Given the description of an element on the screen output the (x, y) to click on. 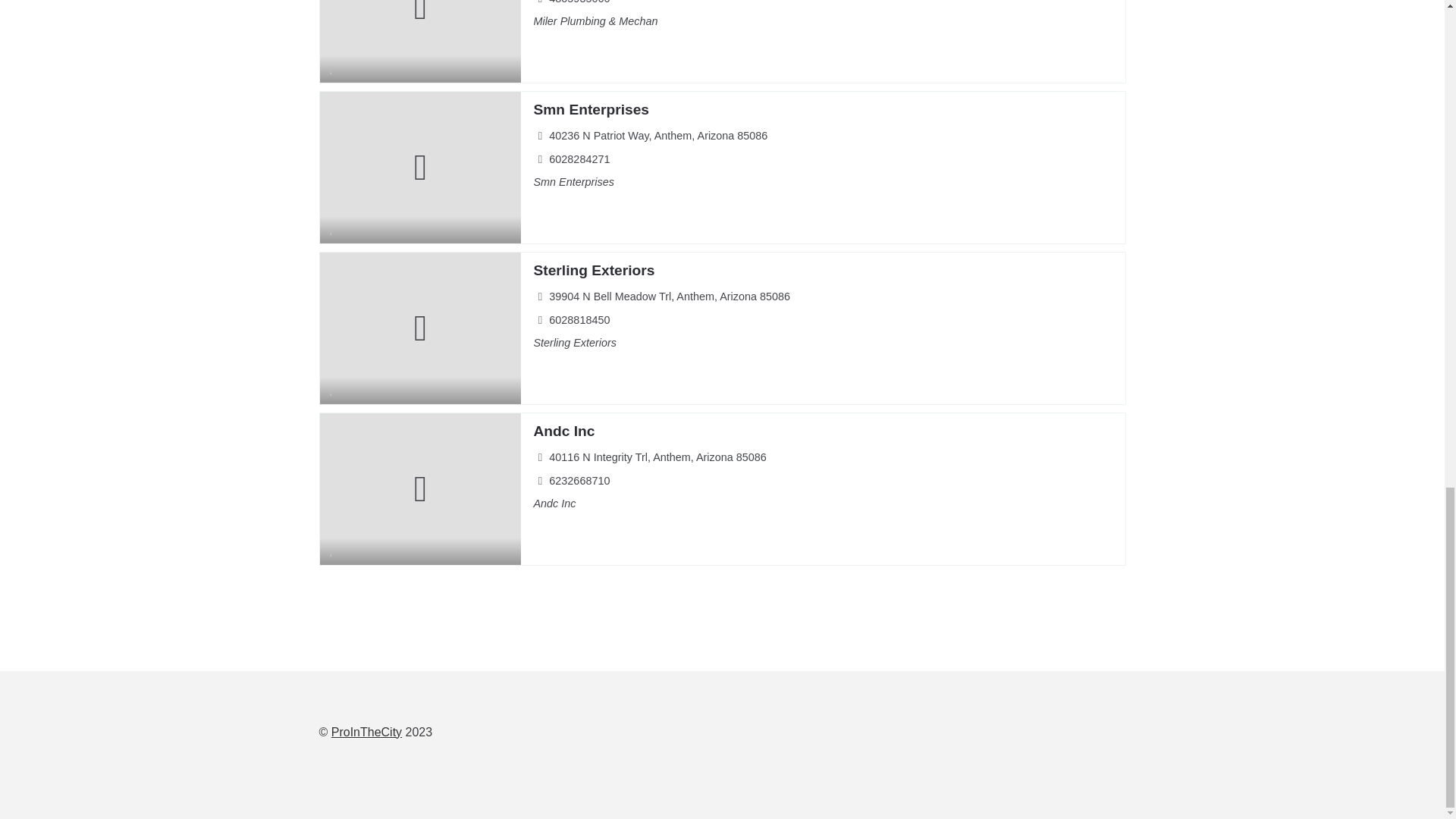
Bookmark (331, 389)
Bookmark (331, 68)
Bookmark (331, 228)
Sterling Exteriors (592, 270)
Bookmark (331, 550)
Smn Enterprises (590, 109)
Andc Inc (563, 430)
